Given the description of an element on the screen output the (x, y) to click on. 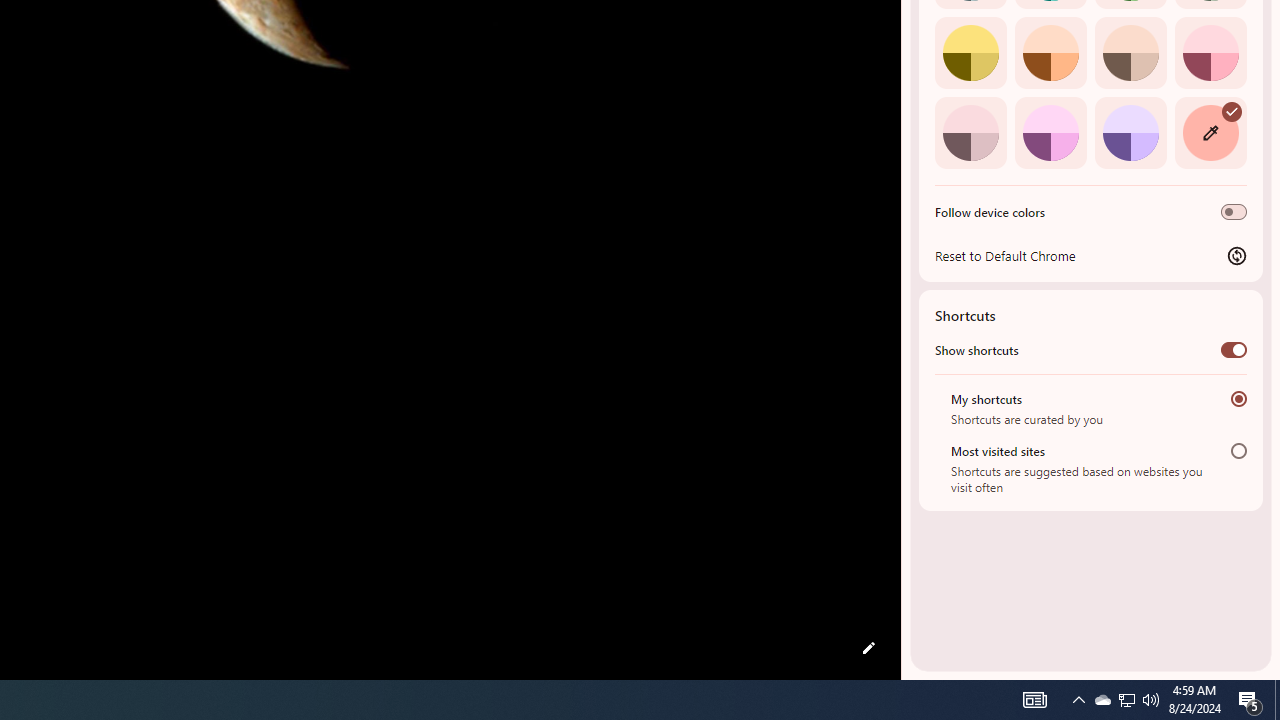
Customize this page (868, 647)
Rose (1210, 52)
